Given the description of an element on the screen output the (x, y) to click on. 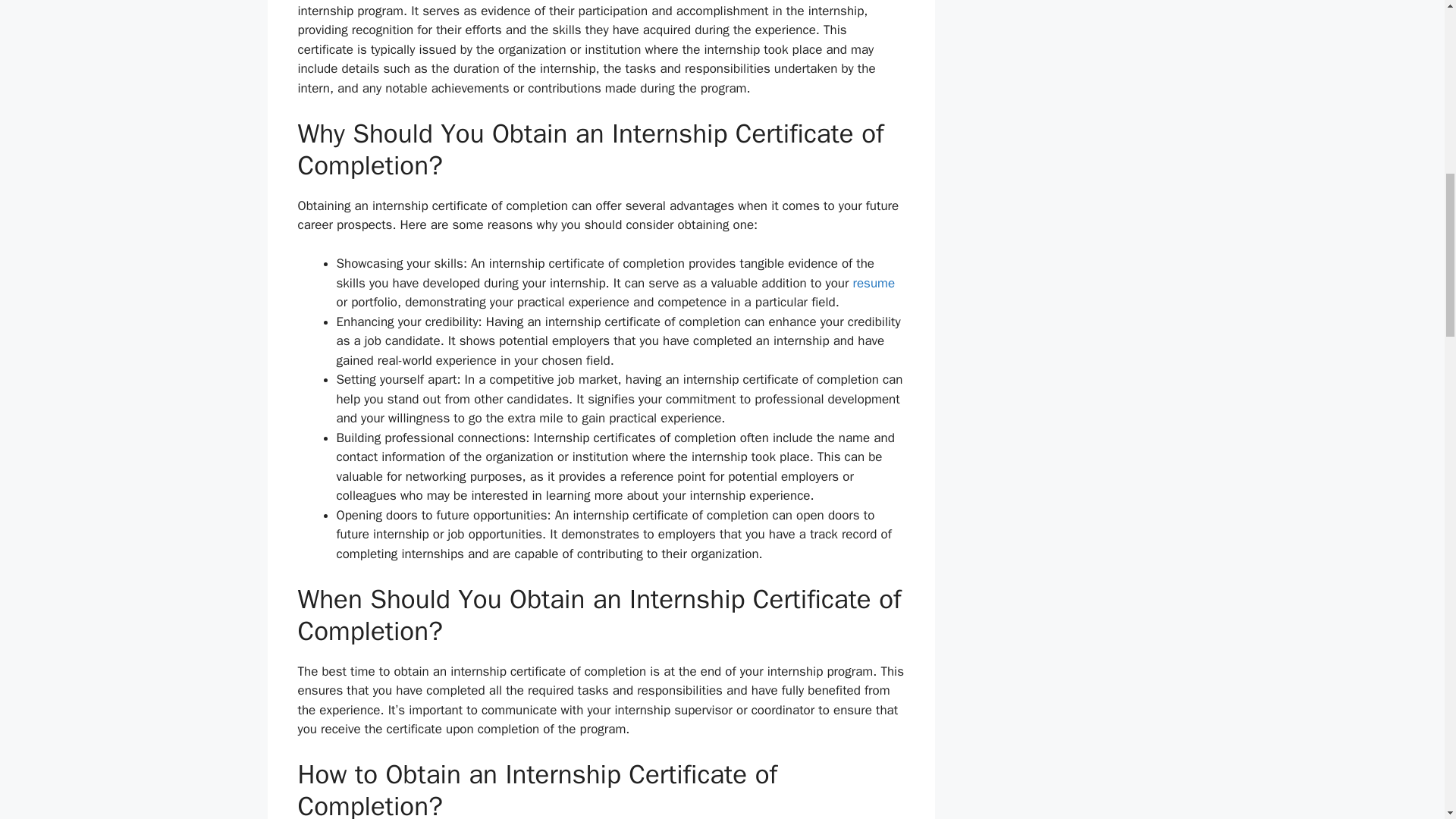
resume (873, 283)
Scroll back to top (1406, 720)
